Given the description of an element on the screen output the (x, y) to click on. 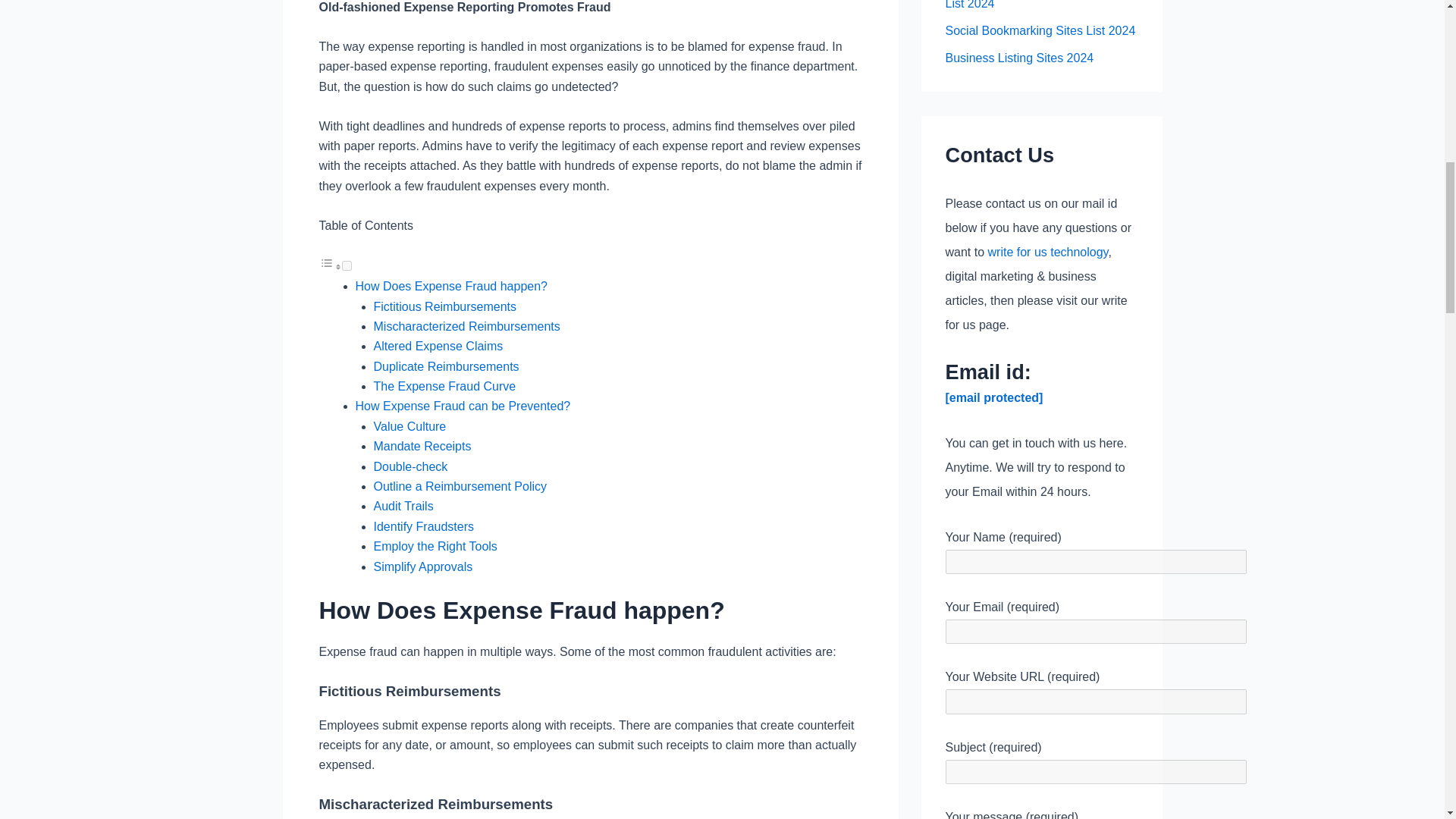
Mischaracterized Reimbursements (465, 326)
Employ the Right Tools (434, 545)
Simplify Approvals (421, 566)
Fictitious Reimbursements (444, 306)
Fictitious Reimbursements (444, 306)
Duplicate Reimbursements (445, 366)
Double-check (409, 466)
How Expense Fraud can be Prevented? (462, 405)
Identify Fraudsters (423, 526)
Duplicate Reimbursements (445, 366)
Mandate Receipts (421, 445)
on (345, 266)
Simplify Approvals (421, 566)
Value Culture (408, 426)
Double-check (409, 466)
